Given the description of an element on the screen output the (x, y) to click on. 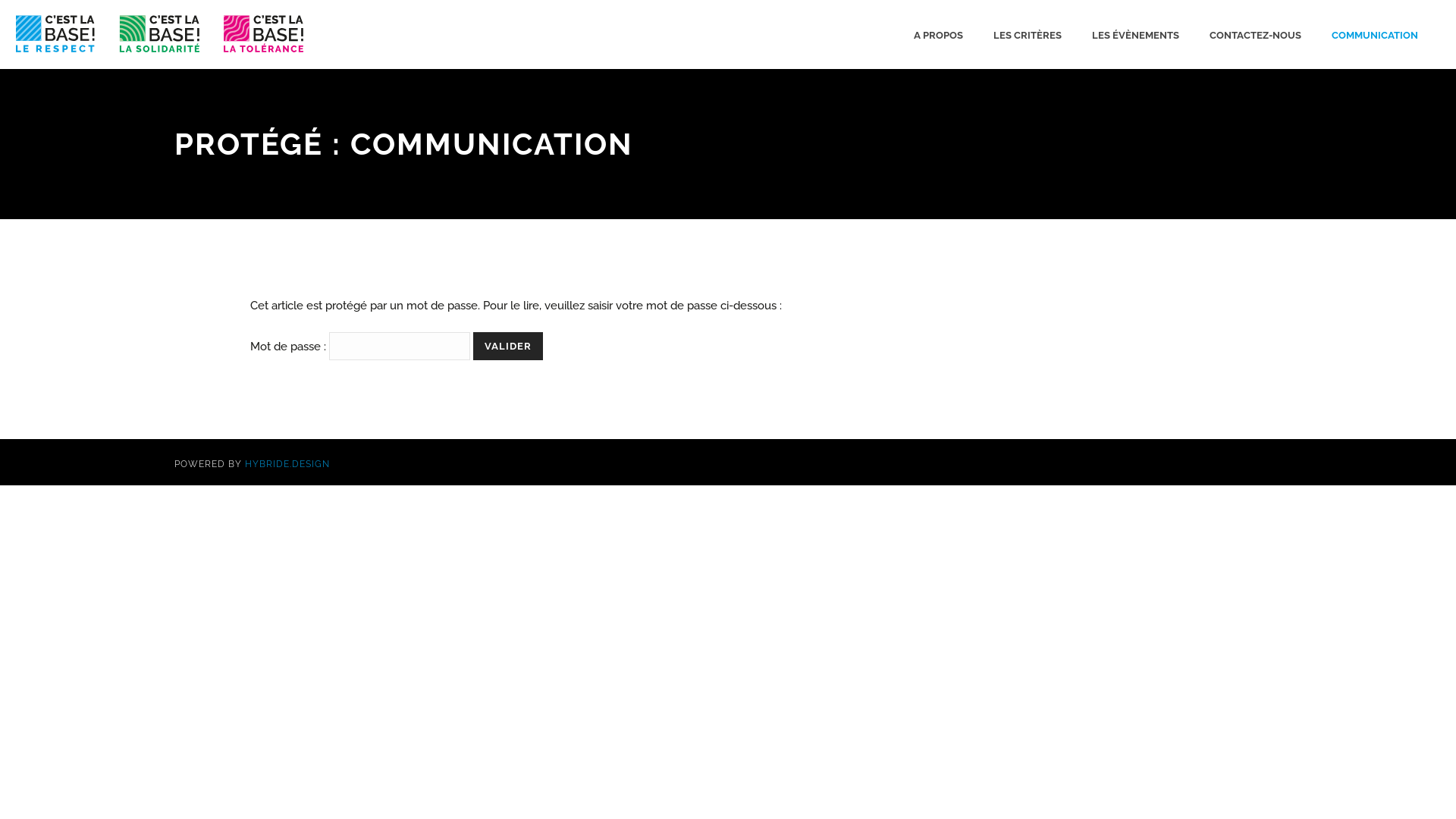
CONTACTEZ-NOUS Element type: text (1255, 34)
COMMUNICATION Element type: text (1374, 34)
Valider Element type: text (507, 346)
HYBRIDE.DESIGN Element type: text (286, 463)
A PROPOS Element type: text (938, 34)
